Given the description of an element on the screen output the (x, y) to click on. 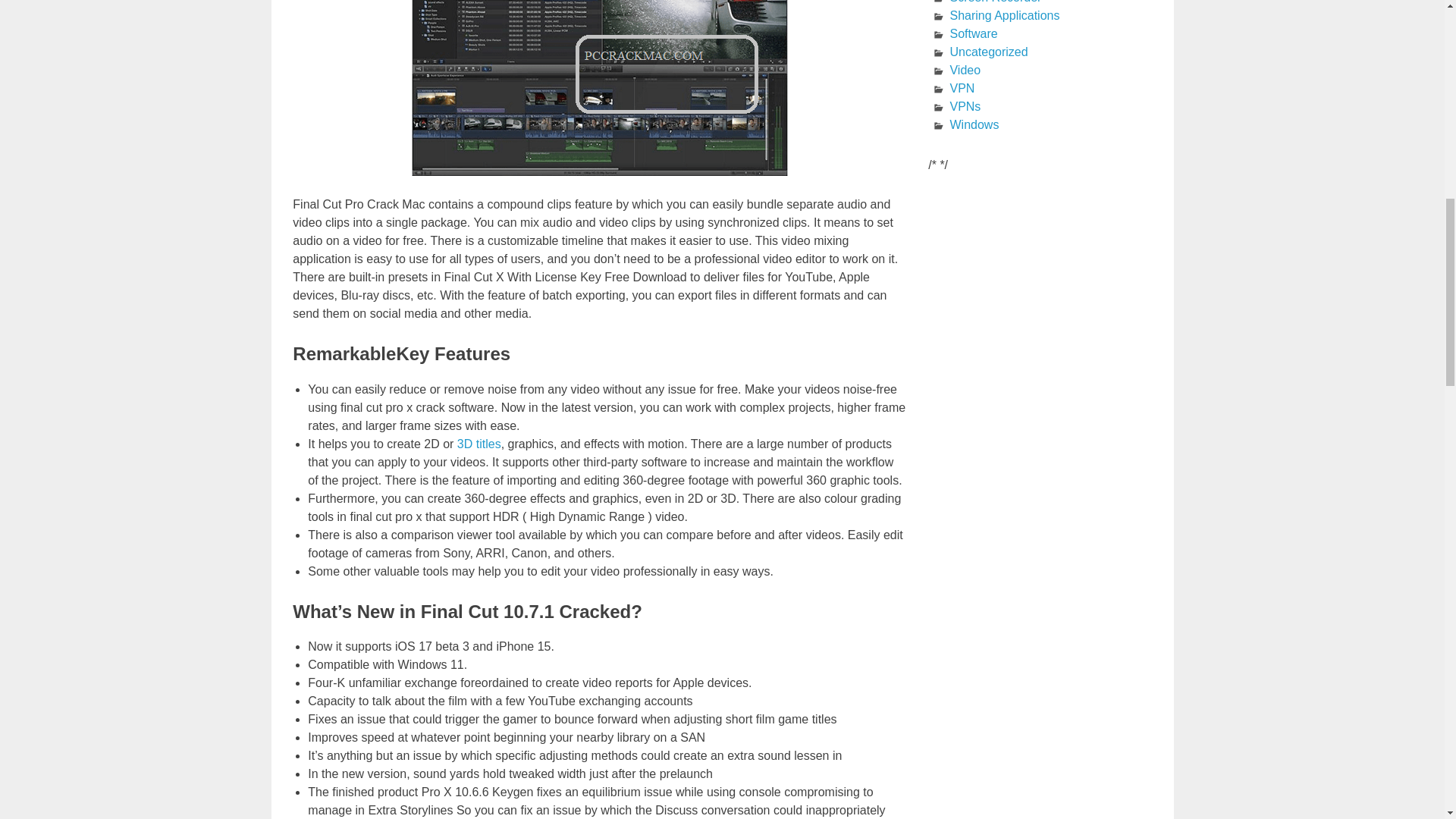
3D titles (478, 443)
